Given the description of an element on the screen output the (x, y) to click on. 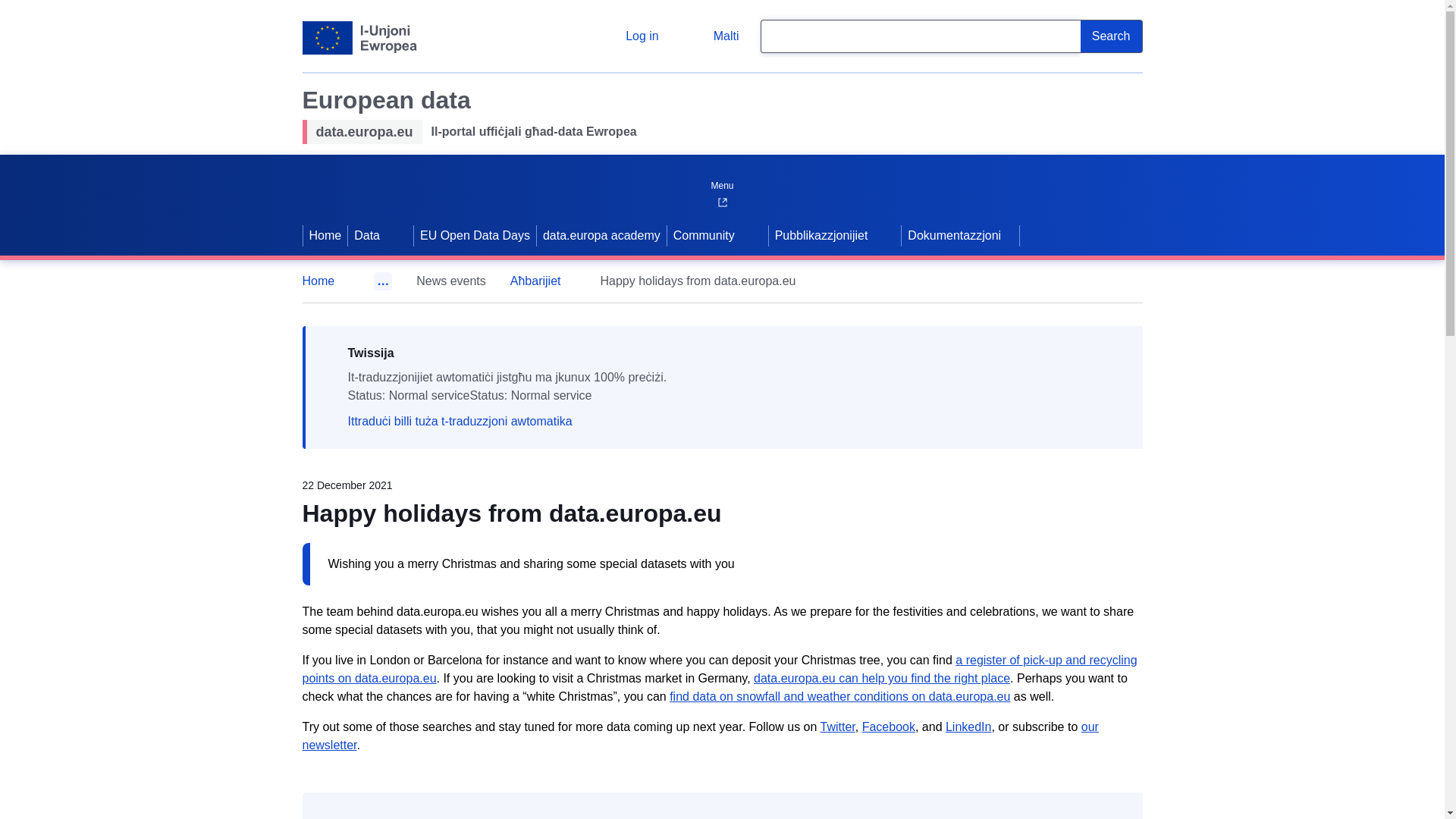
Home (324, 235)
Log in (630, 36)
Community (702, 235)
Data (364, 235)
Dokumentazzjoni (960, 235)
European Union (358, 37)
Home (325, 280)
Pubblikazzjonijiet (819, 235)
Malti (714, 36)
EU Open Data Days (474, 235)
Search (1111, 36)
data.europa academy (601, 235)
Menu (721, 181)
